Given the description of an element on the screen output the (x, y) to click on. 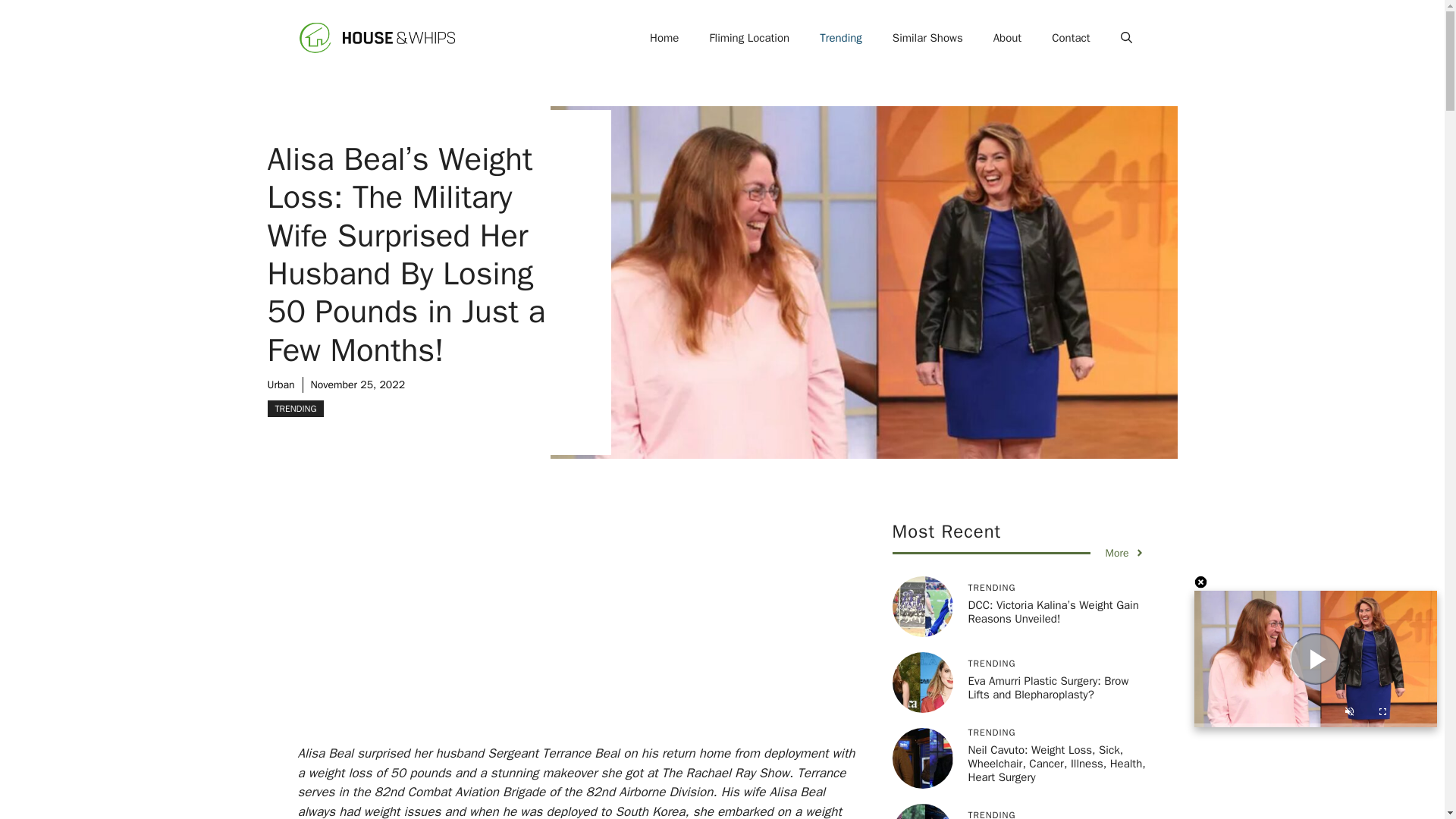
Fullscreen (1382, 714)
Advertisement (600, 631)
Play (1314, 658)
TRENDING (294, 408)
Urban (280, 384)
Contact (1070, 37)
Fullscreen (1382, 714)
Trending (841, 37)
Home (664, 37)
Fliming Location (749, 37)
Unmute (1348, 714)
Similar Shows (927, 37)
Unmute (1348, 714)
Play (1314, 658)
About (1007, 37)
